Given the description of an element on the screen output the (x, y) to click on. 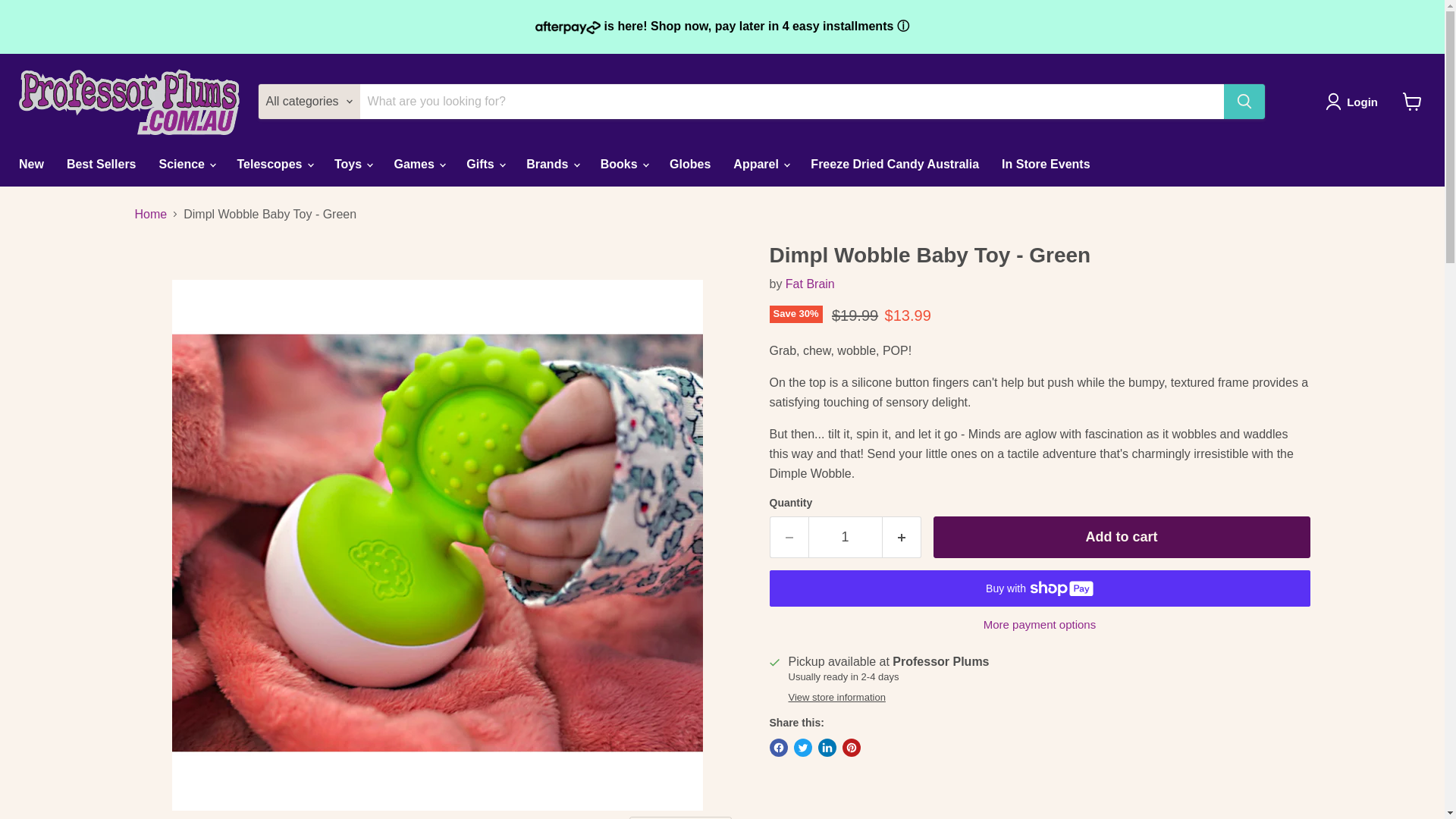
Fat Brain (810, 283)
New (31, 164)
View cart (1411, 101)
Best Sellers (101, 164)
1 (845, 536)
Login (1354, 101)
